Given the description of an element on the screen output the (x, y) to click on. 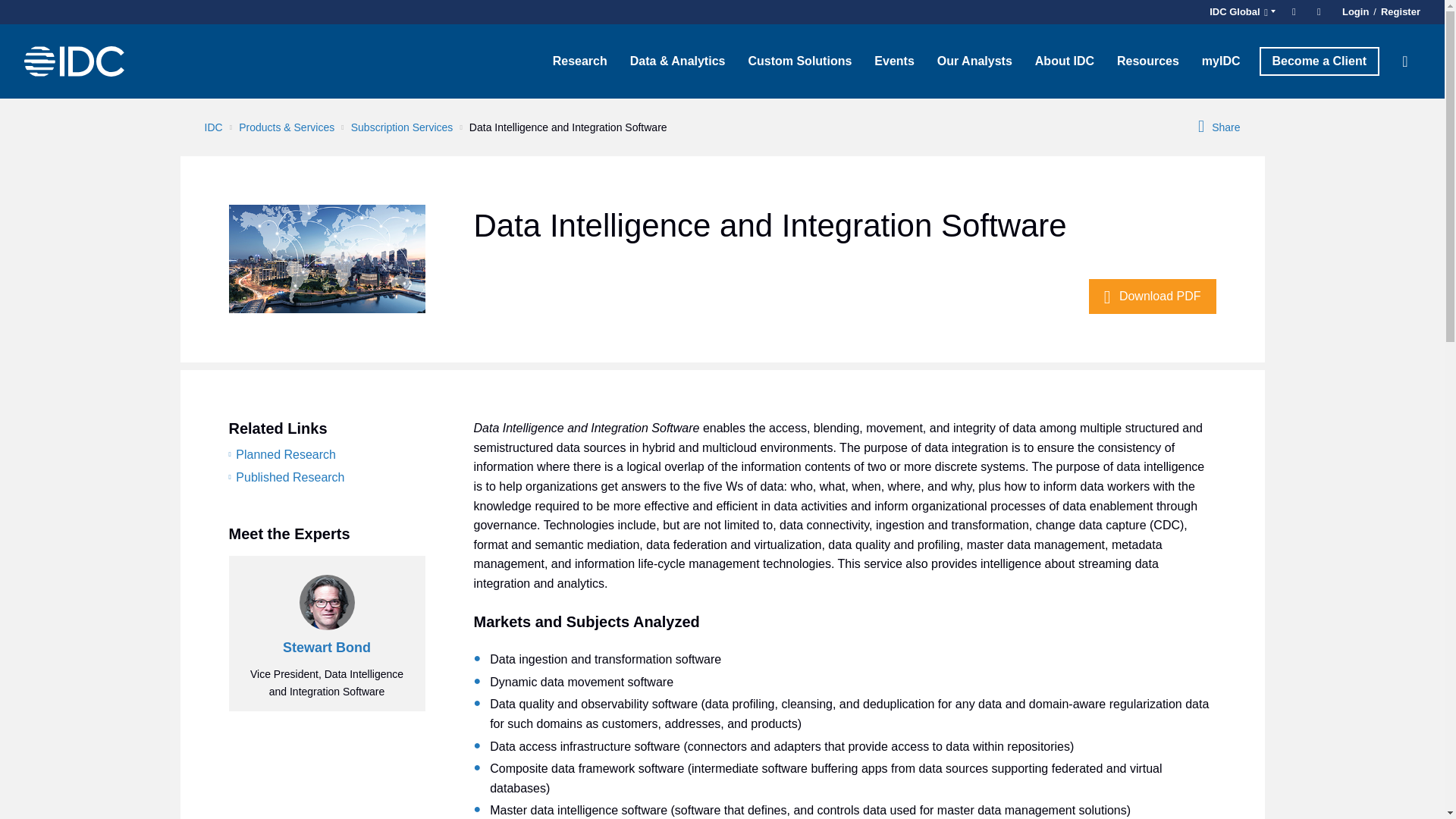
Events (893, 60)
Our Analysts (974, 60)
Register (1398, 12)
IDC Global (1240, 12)
Resources (1148, 60)
Research (579, 60)
Custom Solutions (799, 60)
Search (1405, 61)
myIDC (1221, 60)
About IDC (1064, 60)
